Given the description of an element on the screen output the (x, y) to click on. 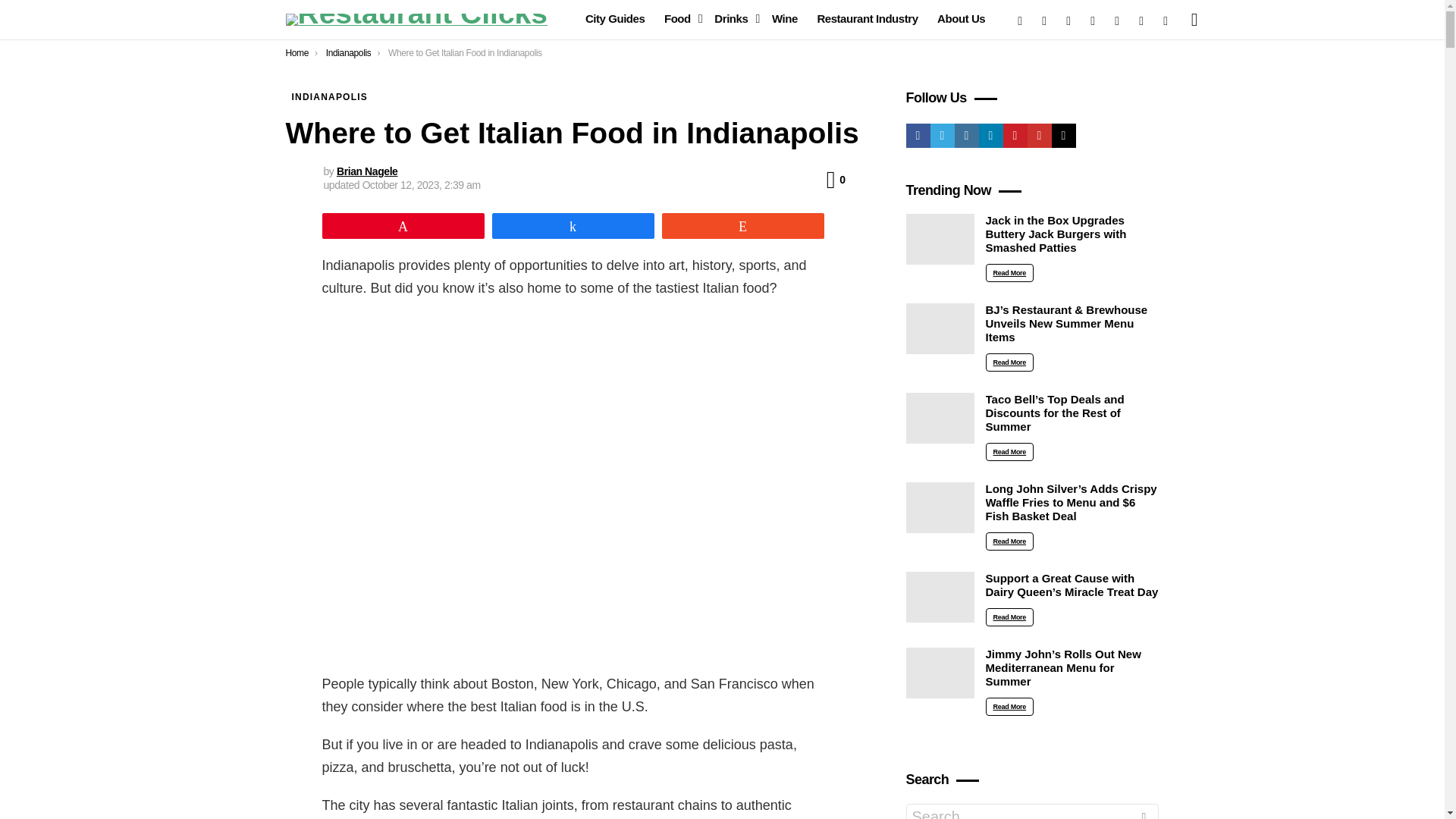
Restaurant Industry (866, 18)
Drinks (733, 18)
instagram (1068, 19)
Brian Nagele (366, 171)
youtube (1141, 19)
Indianapolis (348, 52)
twitter (1044, 19)
Home (296, 52)
Food (679, 18)
pinterest (1117, 19)
facebook (1019, 19)
Posts by Brian Nagele (366, 171)
INDIANAPOLIS (328, 96)
About Us (961, 18)
City Guides (615, 18)
